Given the description of an element on the screen output the (x, y) to click on. 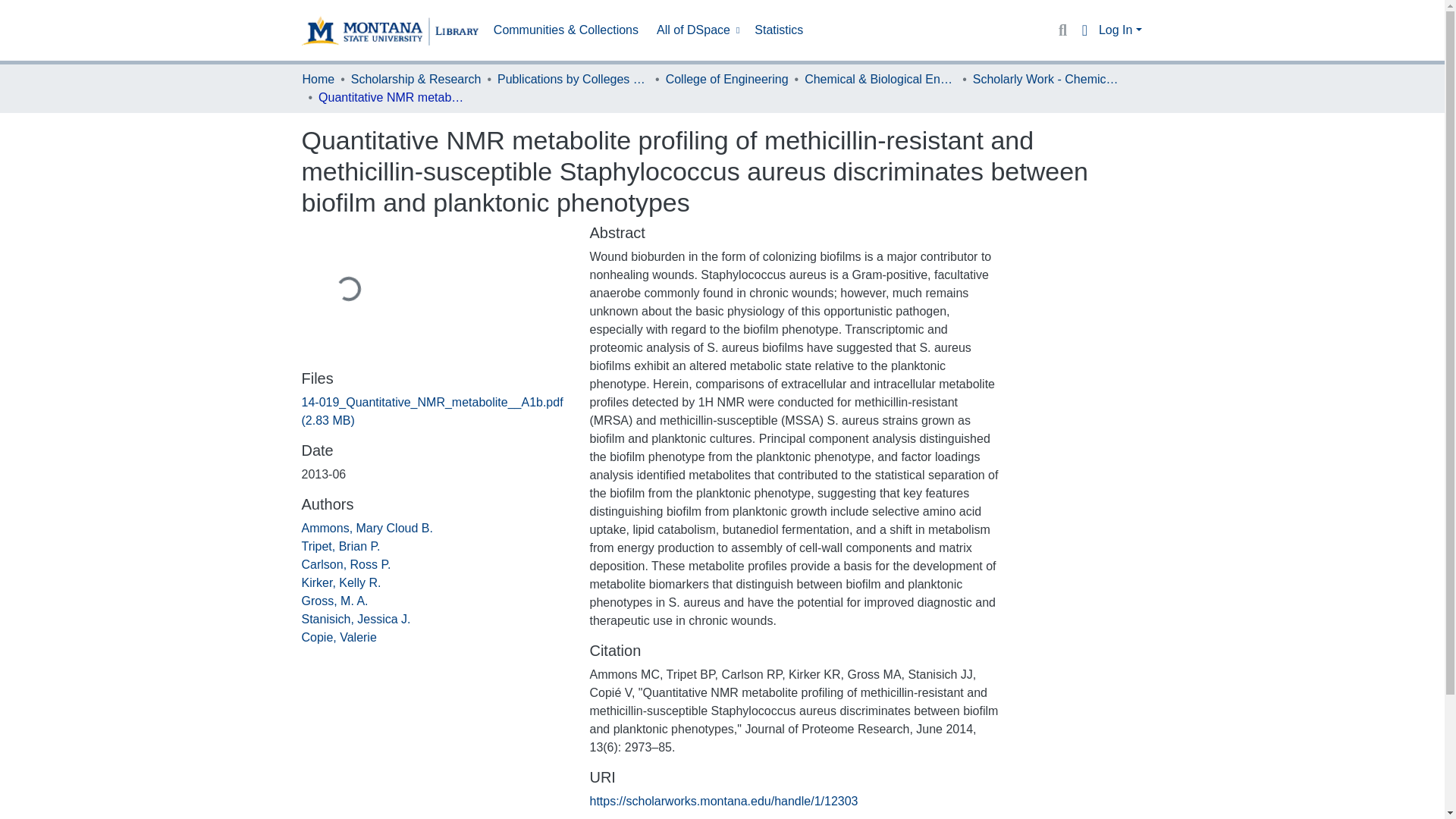
Stanisich, Jessica J. (355, 618)
Gross, M. A. (334, 600)
Ammons, Mary Cloud B. (366, 527)
All of DSpace (696, 30)
Search (1061, 30)
College of Engineering (727, 79)
Home (317, 79)
Carlson, Ross P. (346, 563)
Tripet, Brian P. (340, 545)
Copie, Valerie (339, 636)
Kirker, Kelly R. (341, 582)
Statistics (778, 30)
Language switch (1084, 30)
Log In (1119, 29)
